Given the description of an element on the screen output the (x, y) to click on. 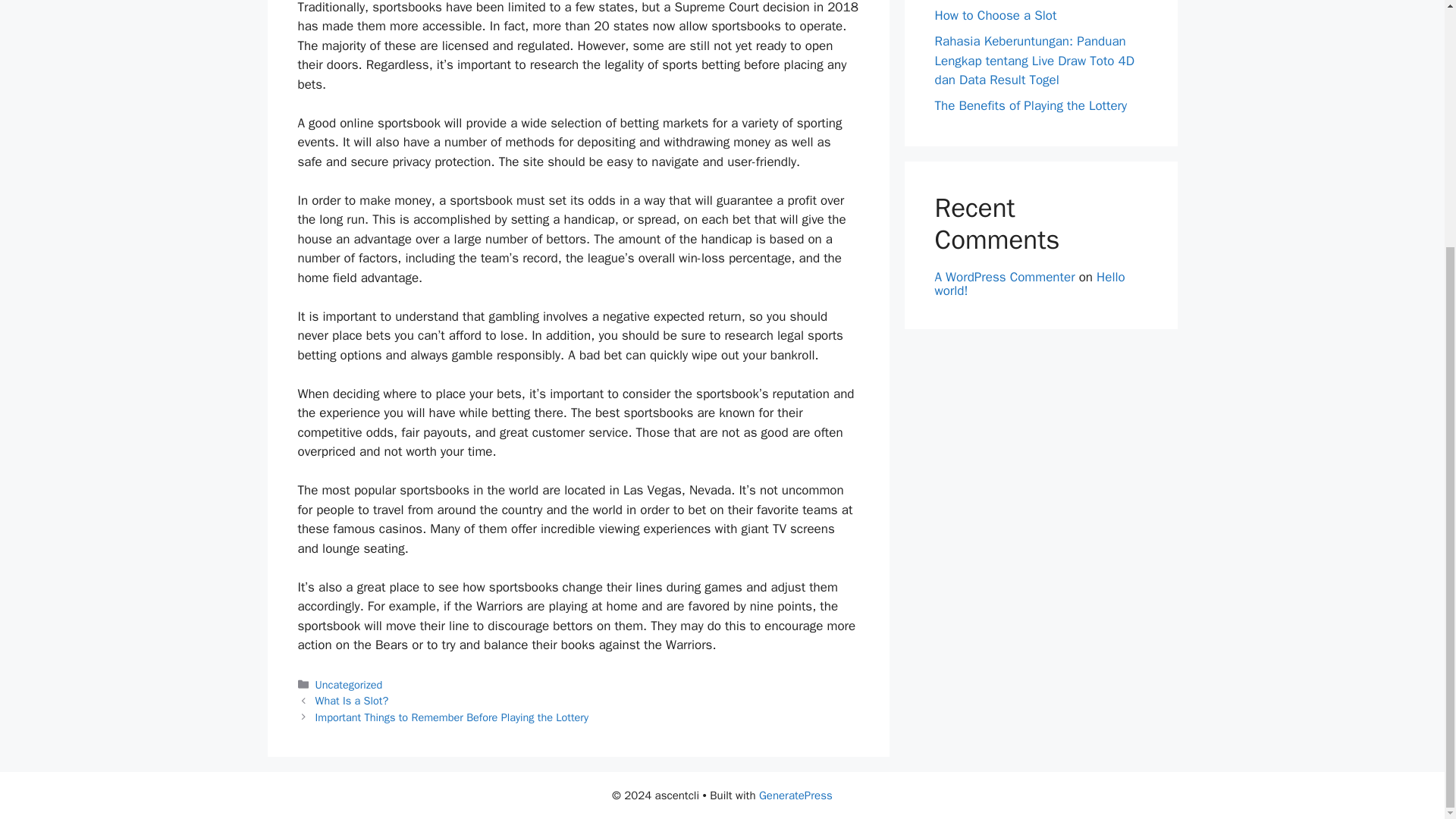
Uncategorized (348, 684)
Important Things to Remember Before Playing the Lottery (451, 716)
A WordPress Commenter (1004, 277)
GeneratePress (795, 795)
What Is a Slot? (351, 700)
Hello world! (1029, 284)
The Benefits of Playing the Lottery (1030, 105)
How to Choose a Slot (995, 15)
